Given the description of an element on the screen output the (x, y) to click on. 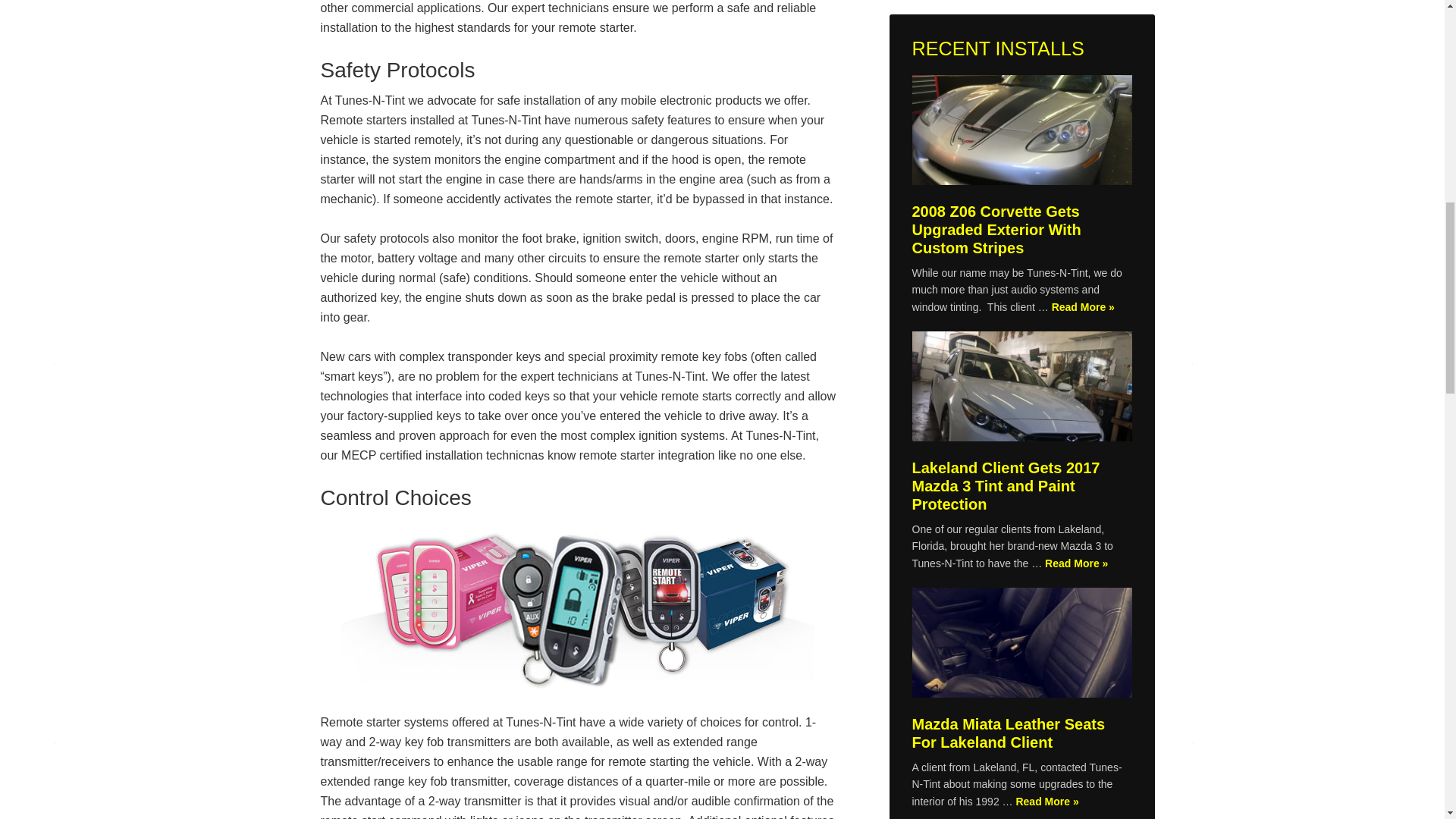
Mazda Miata Leather Seats For Lakeland Client (1021, 645)
2008 Z06 Corvette Gets Upgraded Exterior With Custom Stripes (995, 229)
Mazda Miata Leather Seats For Lakeland Client (1008, 733)
Lakeland Client Gets 2017 Mazda 3 Tint and Paint Protection (1005, 485)
Lakeland Client Gets 2017 Mazda 3 Tint and Paint Protection (1021, 388)
2008 Z06 Corvette Gets Upgraded Exterior With Custom Stripes (1021, 132)
